Given the description of an element on the screen output the (x, y) to click on. 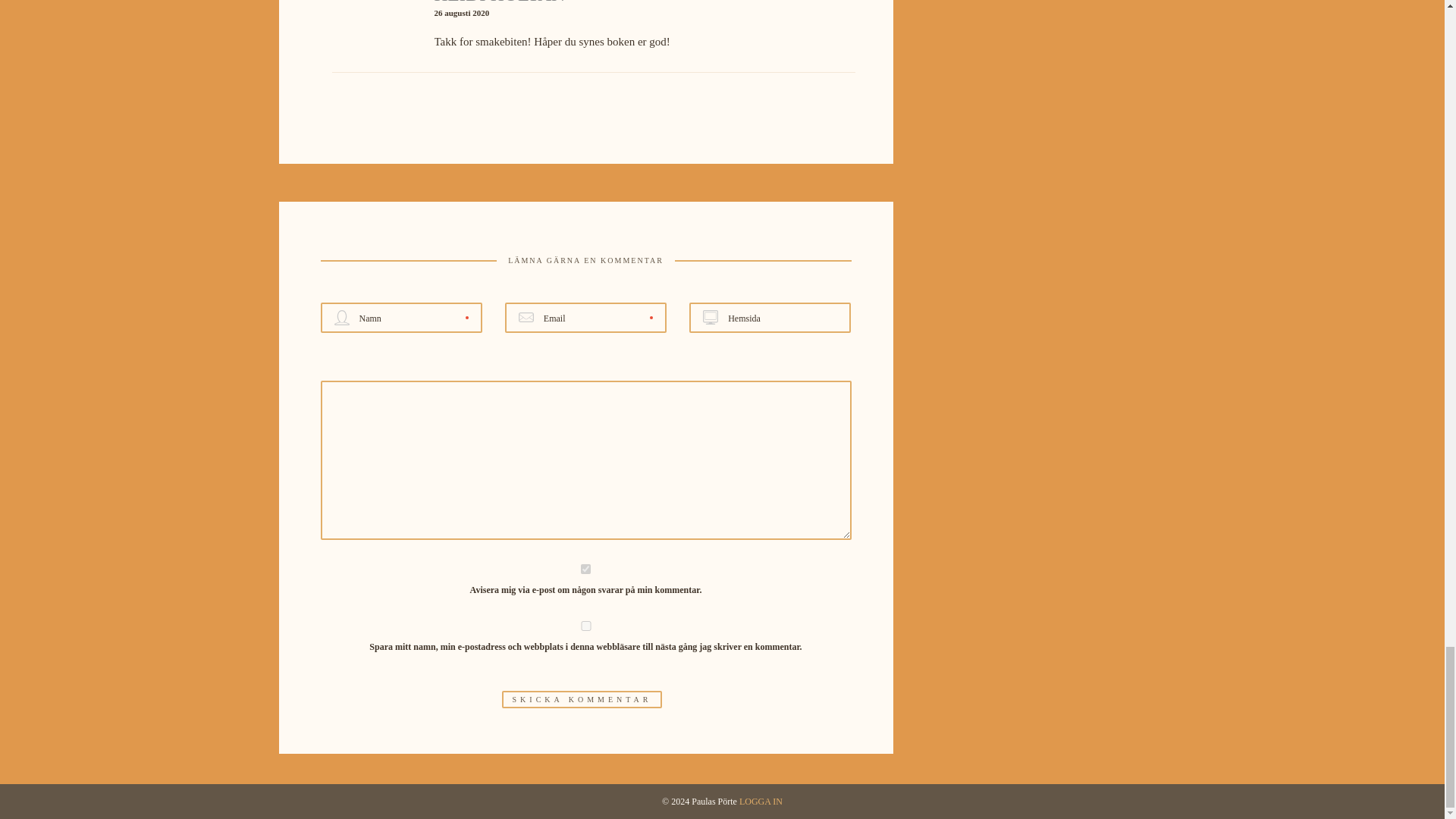
on (585, 569)
yes (585, 624)
Skicka kommentar (582, 698)
